Given the description of an element on the screen output the (x, y) to click on. 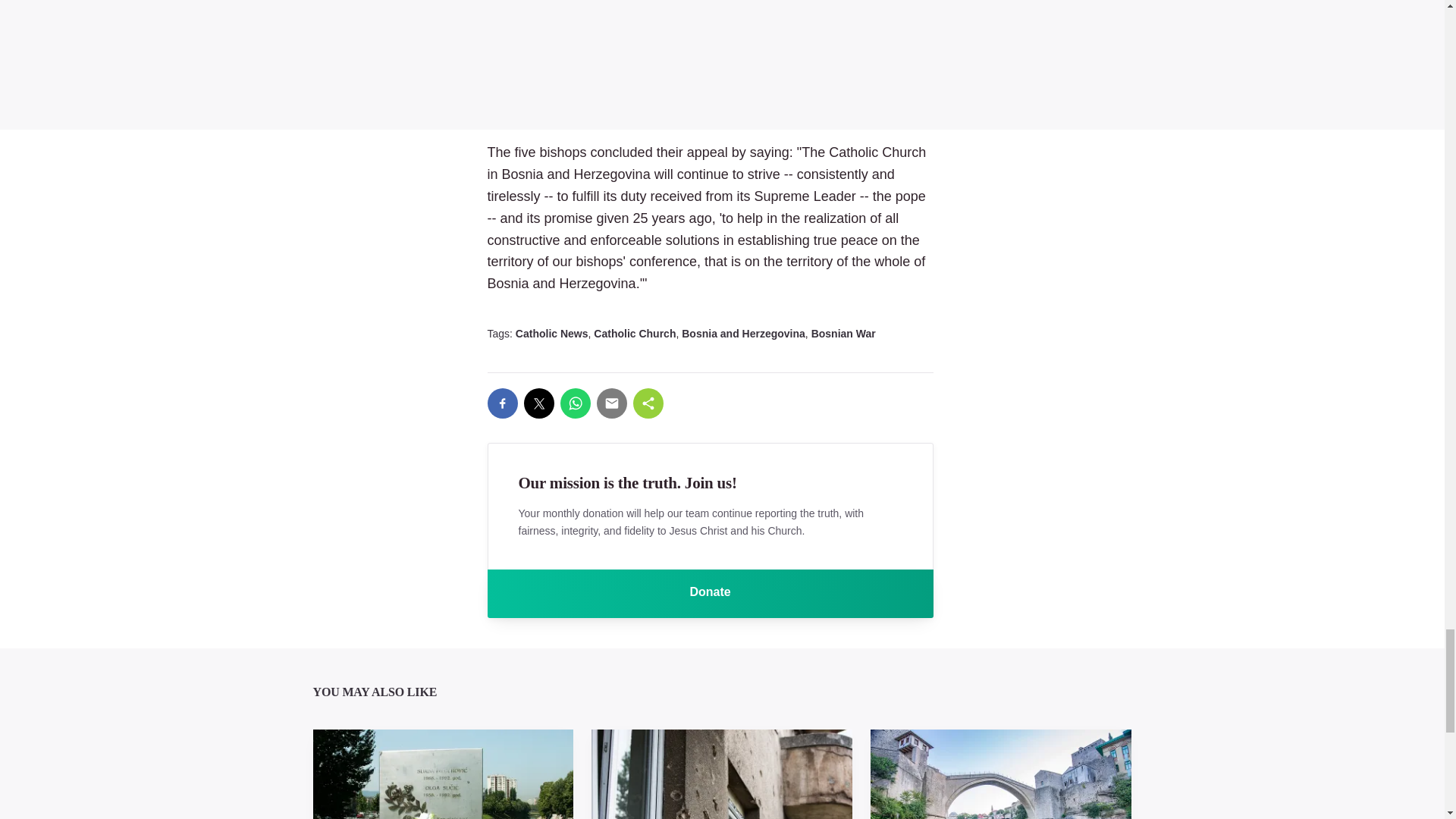
3rd party ad content (721, 60)
